Given the description of an element on the screen output the (x, y) to click on. 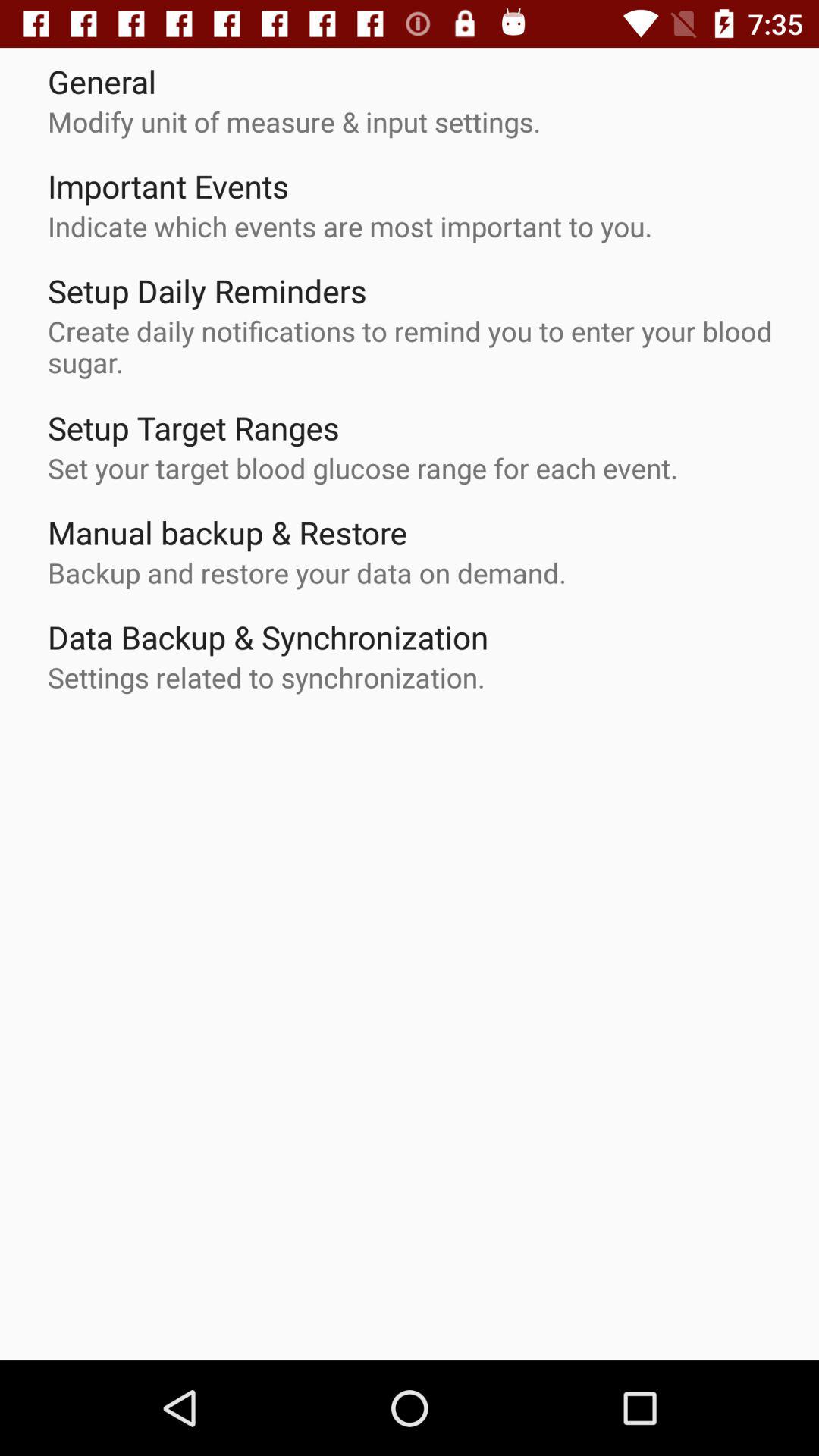
swipe until indicate which events icon (349, 226)
